Given the description of an element on the screen output the (x, y) to click on. 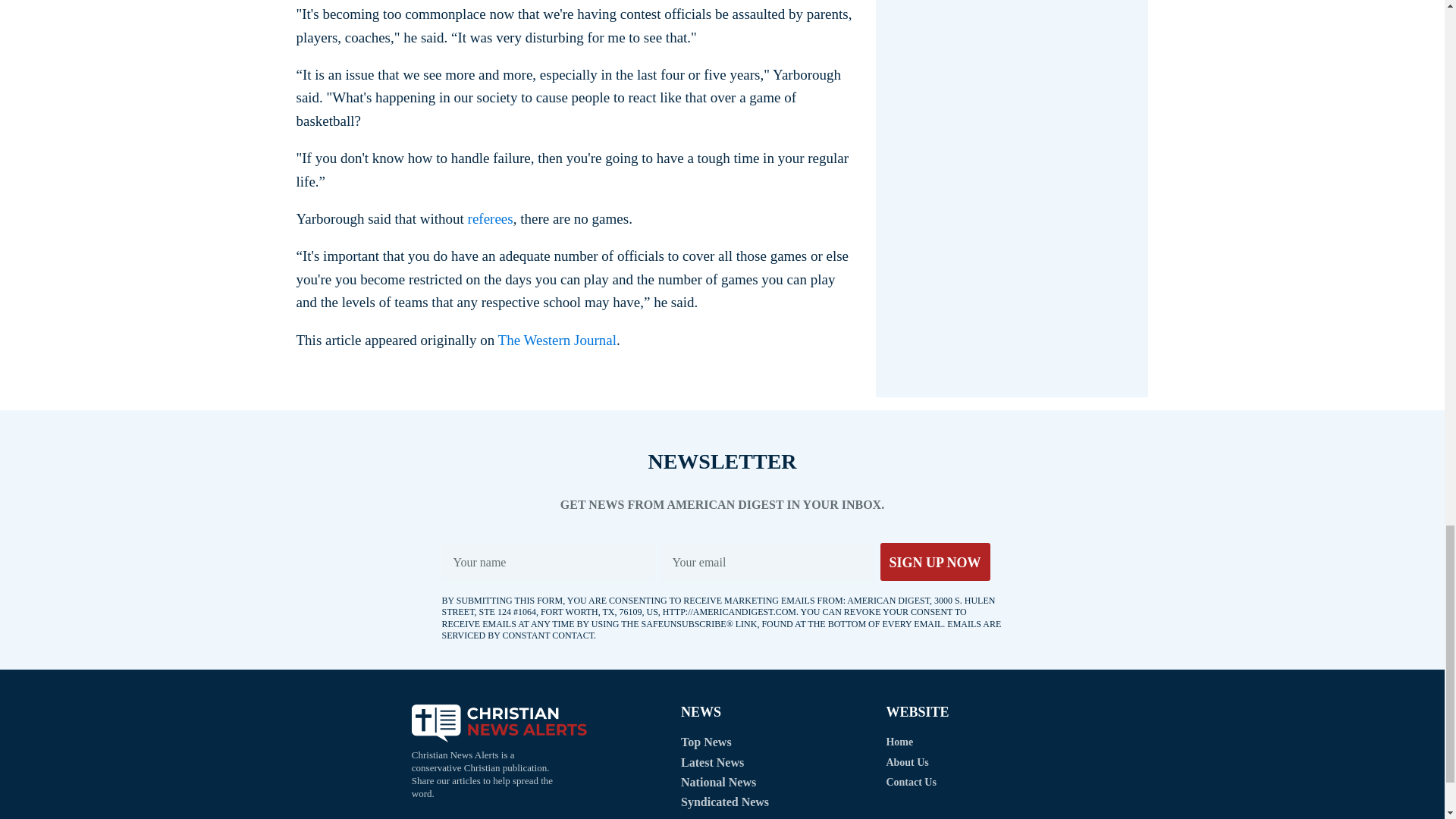
SIGN UP NOW (934, 561)
referees (490, 218)
The Western Journal (556, 340)
